Given the description of an element on the screen output the (x, y) to click on. 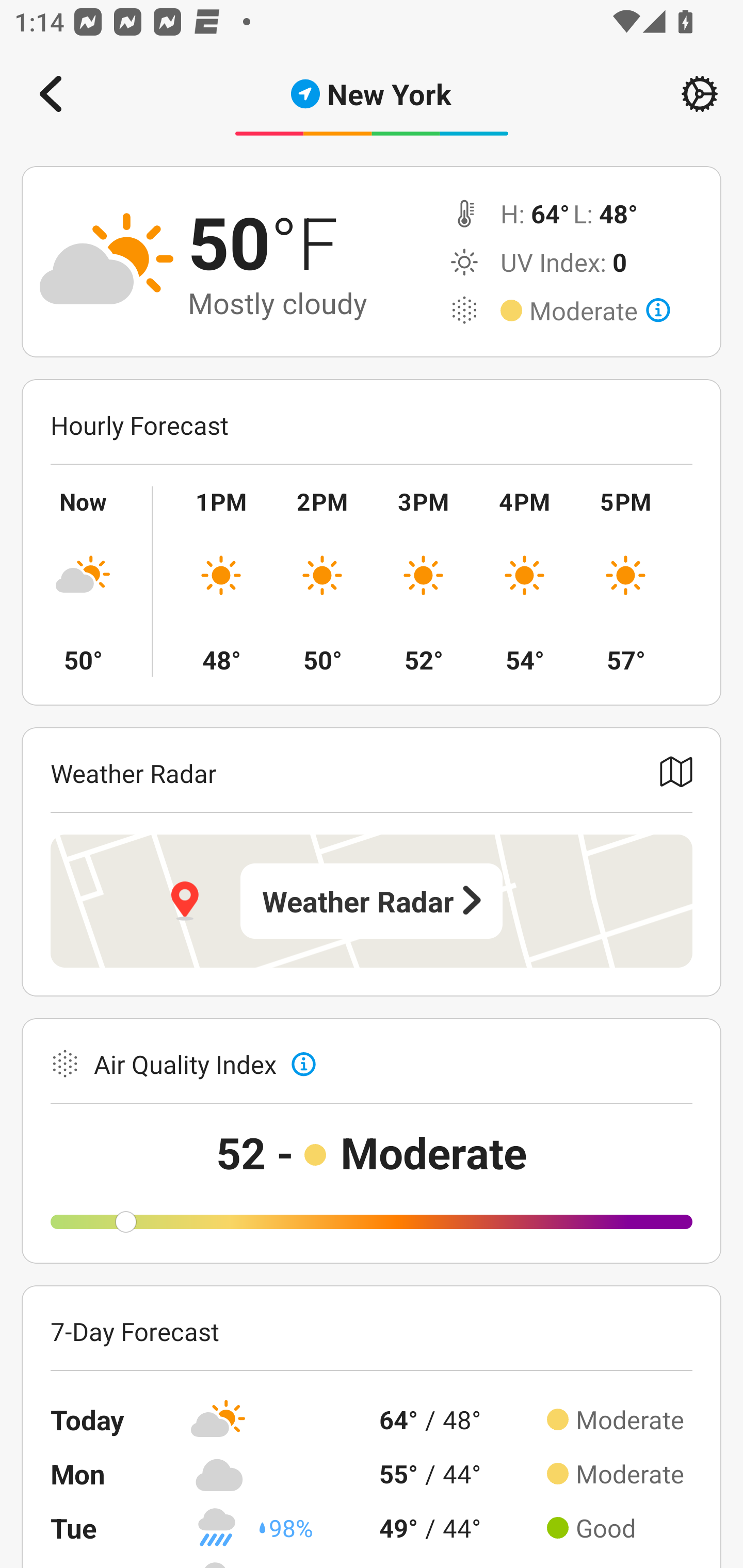
Navigate up (50, 93)
Setting (699, 93)
Moderate (599, 310)
Weather Radar (371, 900)
